Given the description of an element on the screen output the (x, y) to click on. 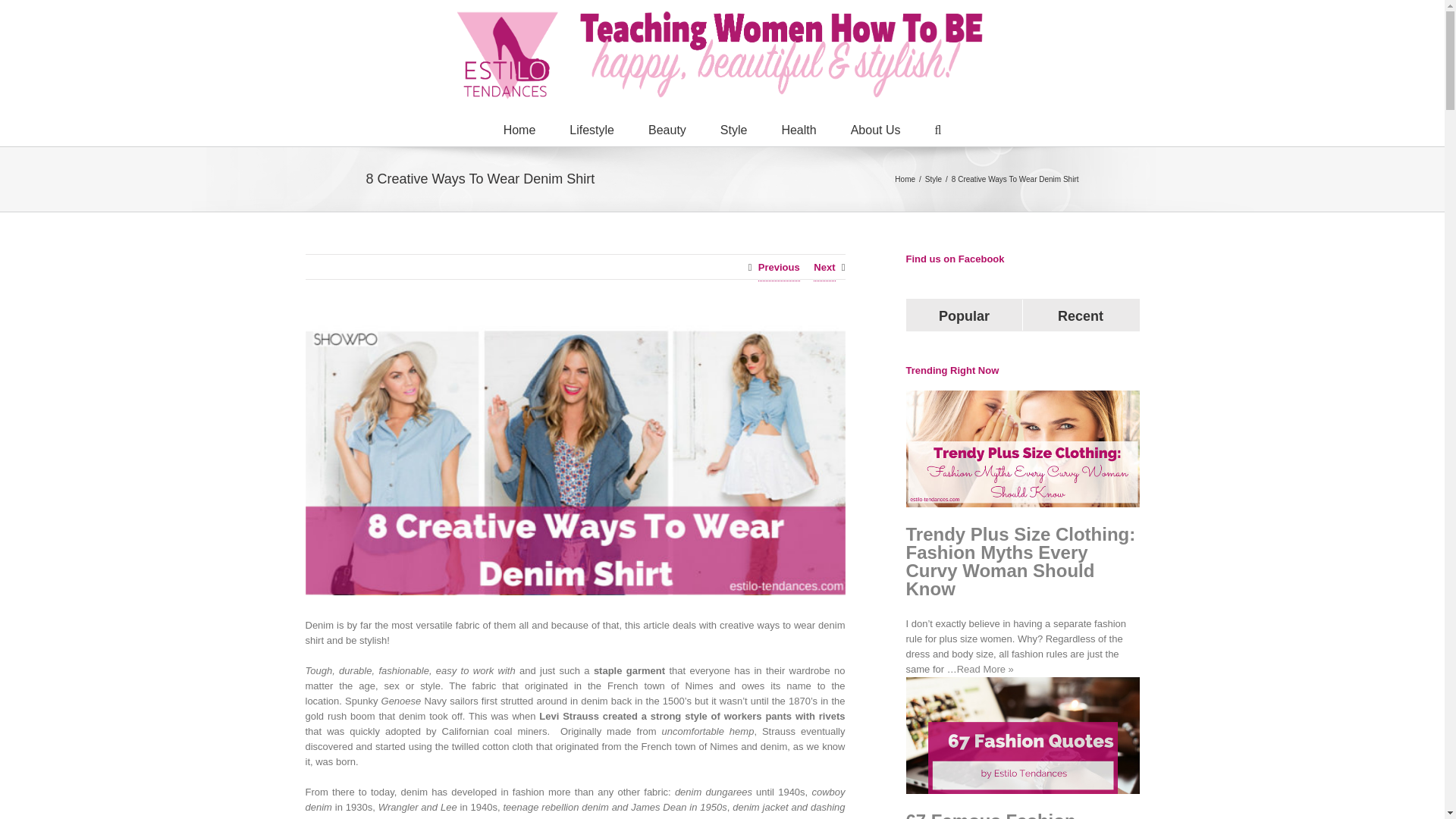
Lifestyle (591, 129)
Health (797, 129)
Home (519, 129)
About Us (875, 129)
Previous (778, 267)
Home (905, 178)
Style (933, 178)
Beauty (666, 129)
